Given the description of an element on the screen output the (x, y) to click on. 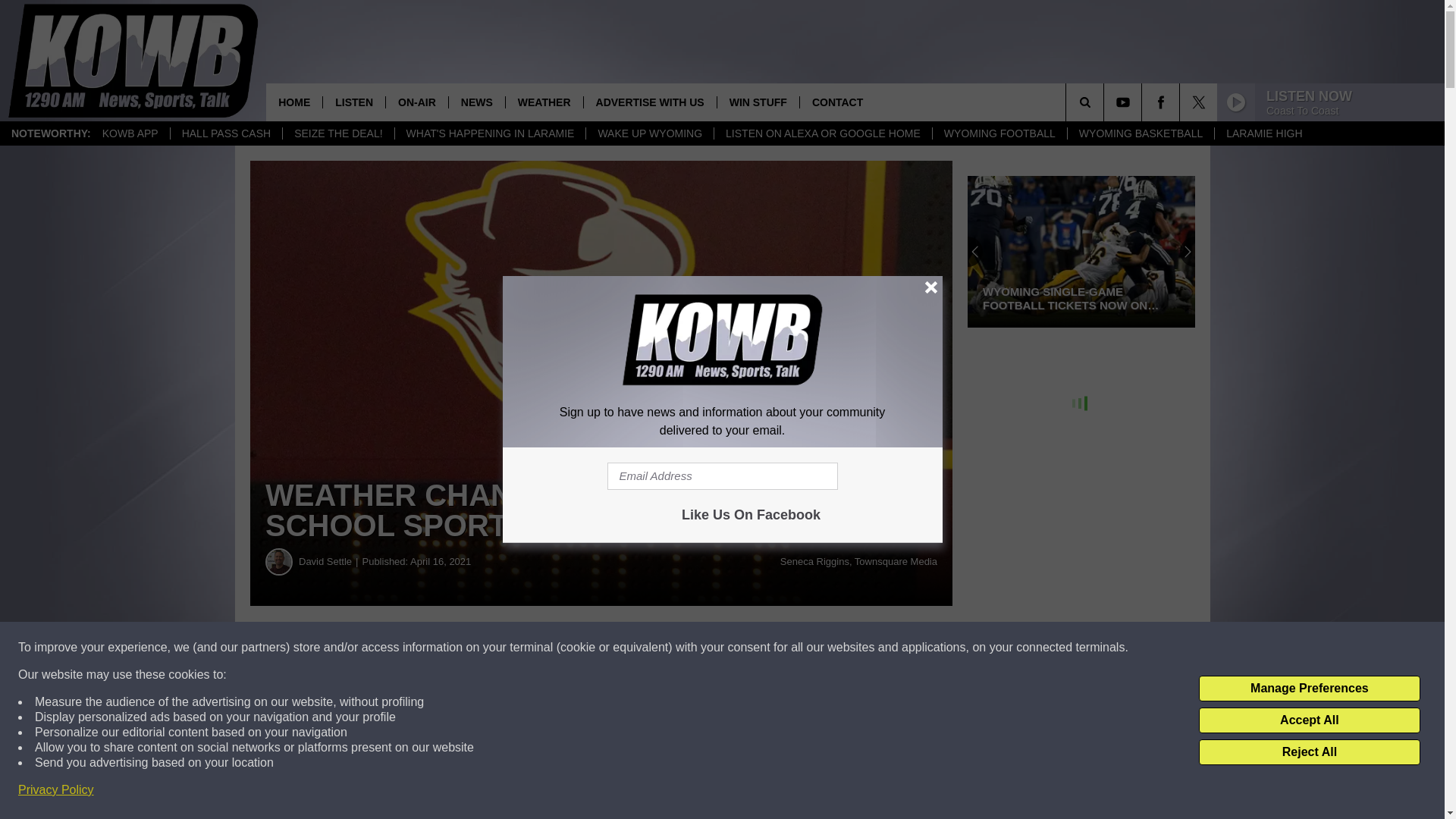
SEARCH (1106, 102)
SEIZE THE DEAL! (337, 133)
SEARCH (1106, 102)
WAKE UP WYOMING (649, 133)
WYOMING FOOTBALL (999, 133)
WYOMING BASKETBALL (1140, 133)
Share on Twitter (741, 647)
HOME (293, 102)
KOWB APP (130, 133)
Accept All (1309, 720)
Email Address (722, 475)
NEWS (476, 102)
LARAMIE HIGH (1263, 133)
ON-AIR (416, 102)
Privacy Policy (55, 789)
